Given the description of an element on the screen output the (x, y) to click on. 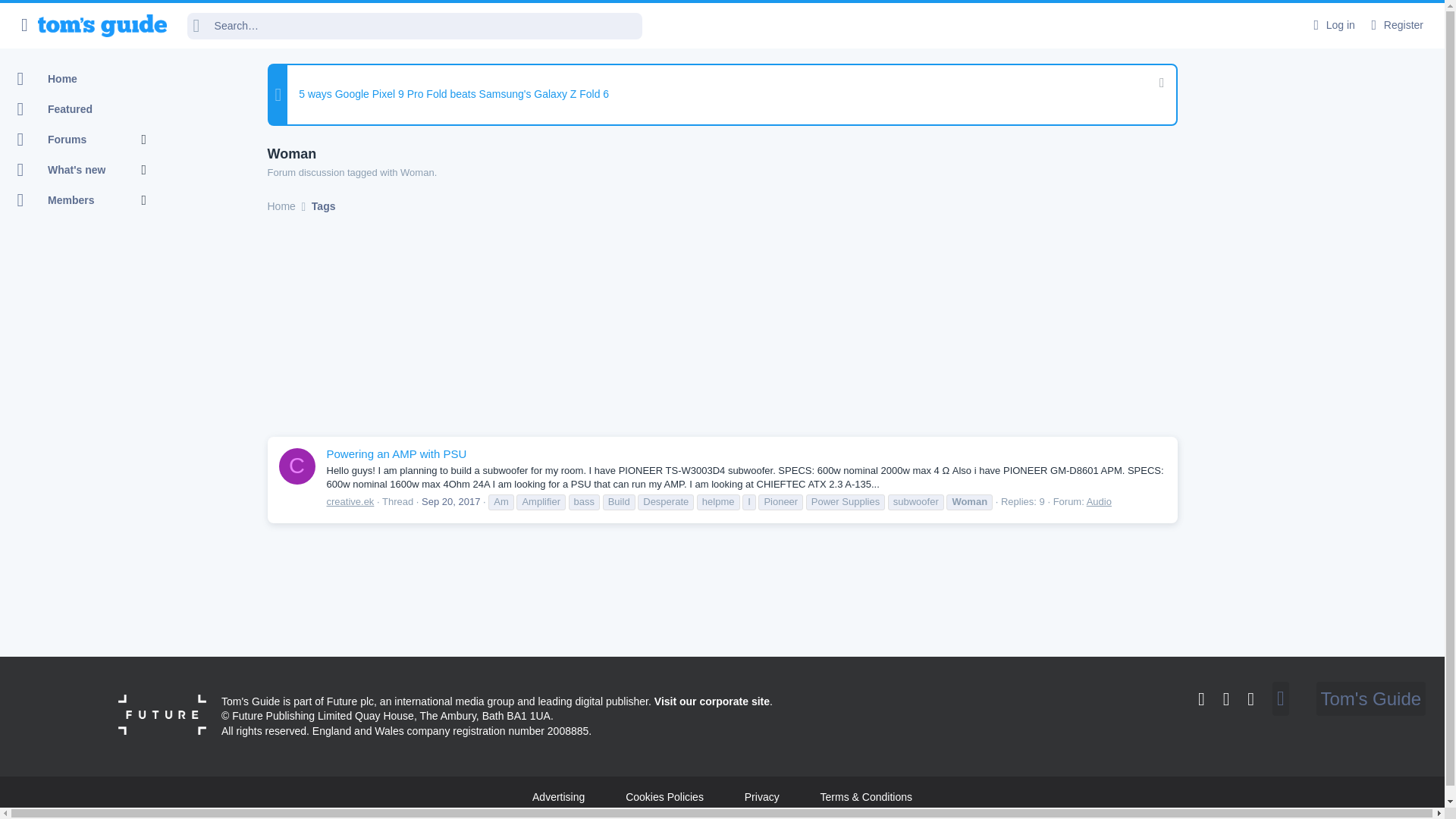
Featured (91, 142)
Log in (78, 109)
Sep 20, 2017 at 5:59 AM (1332, 24)
Register (451, 501)
Home (1395, 24)
